Given the description of an element on the screen output the (x, y) to click on. 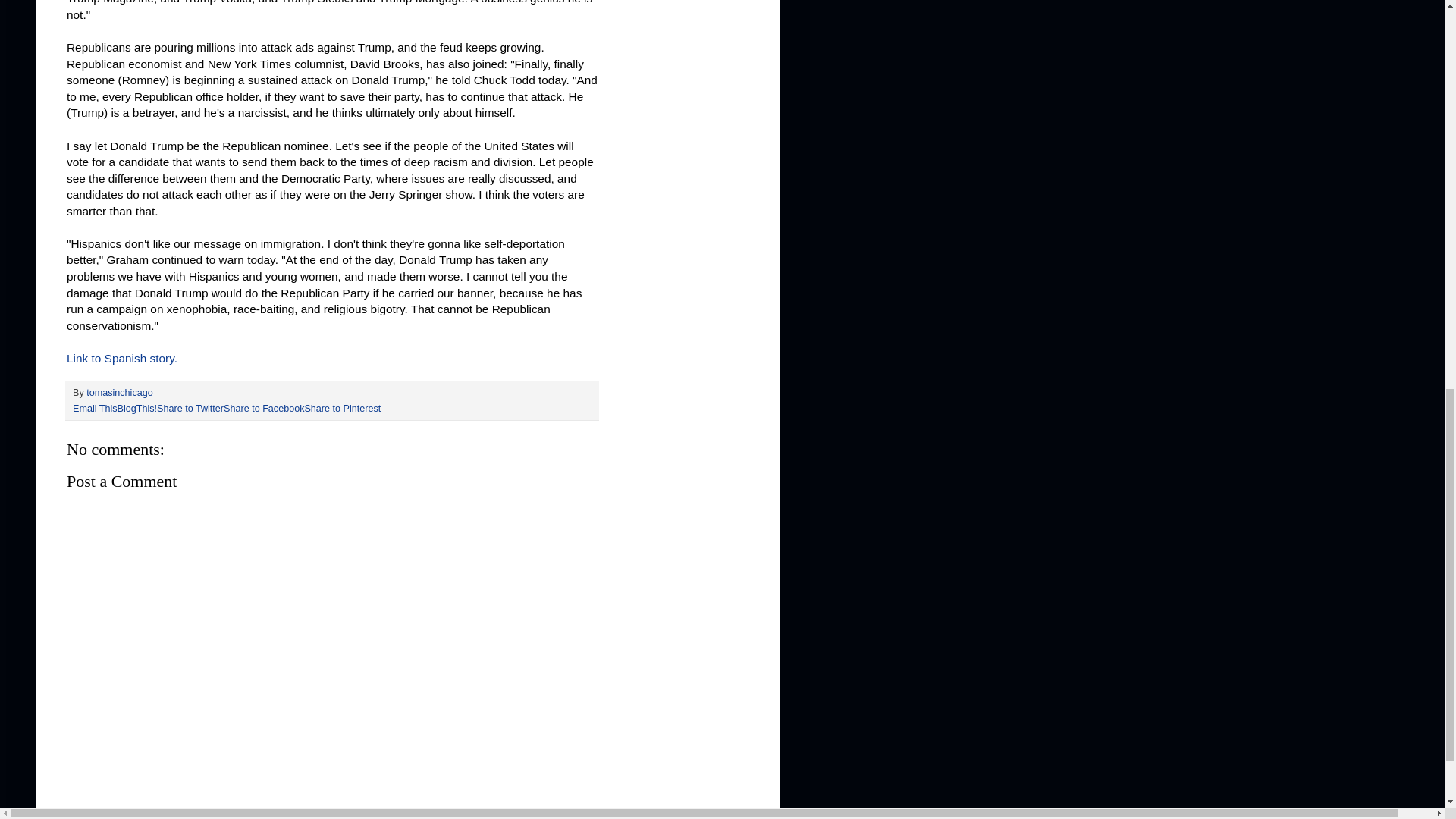
Link to Spanish story. (121, 358)
Share to Twitter (190, 408)
Share to Facebook (264, 408)
author profile (118, 392)
BlogThis! (137, 408)
Share to Facebook (264, 408)
Share to Twitter (190, 408)
Email This (94, 408)
BlogThis! (137, 408)
Share to Pinterest (342, 408)
Share to Pinterest (342, 408)
tomasinchicago (118, 392)
Email This (94, 408)
